Given the description of an element on the screen output the (x, y) to click on. 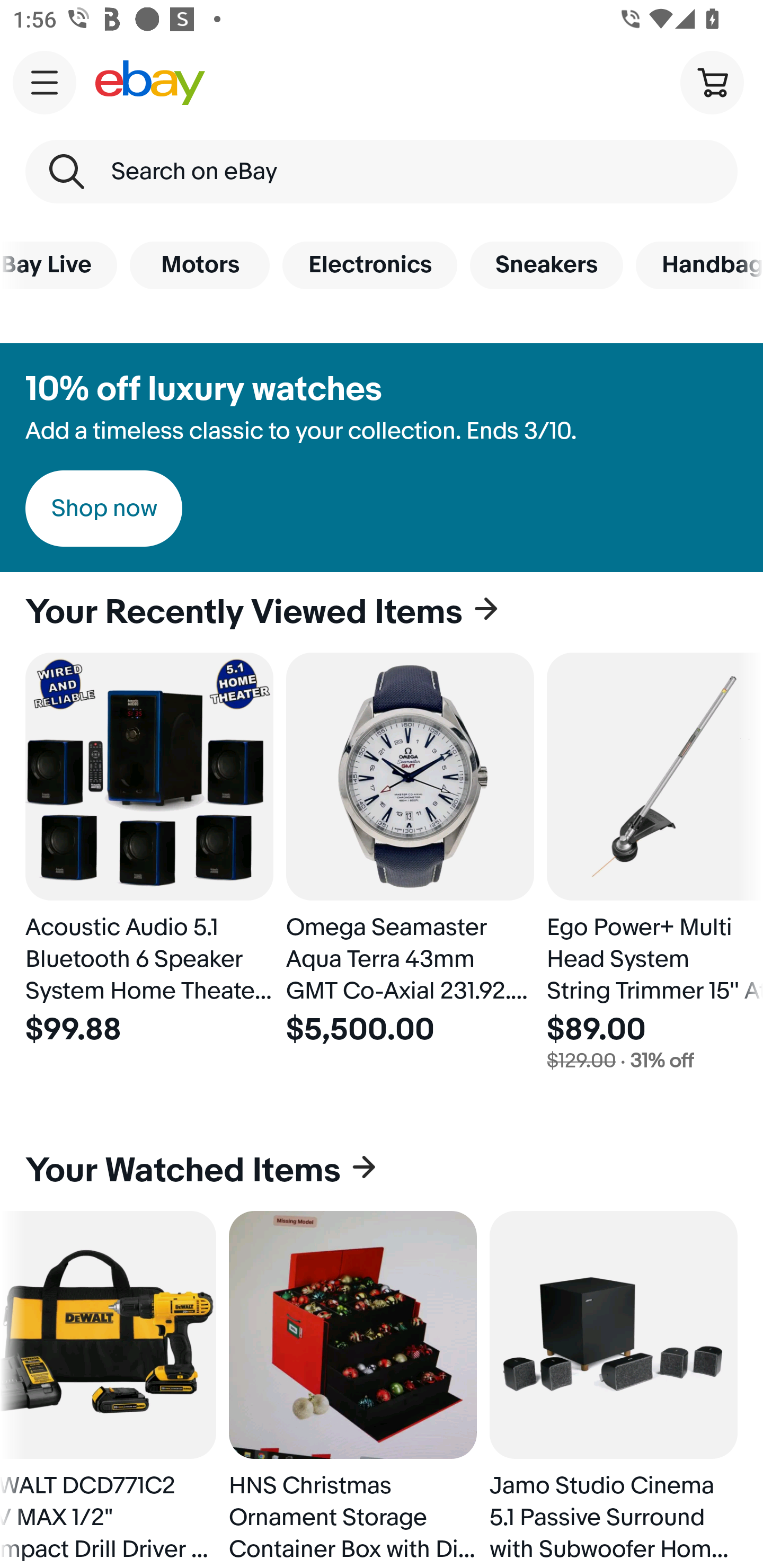
Main navigation, open (44, 82)
Cart button shopping cart (711, 81)
Search on eBay Search Keyword Search on eBay (381, 171)
eBay Live (58, 264)
Motors (199, 264)
Electronics (369, 264)
Sneakers (546, 264)
Handbags (699, 264)
10% off luxury watches (203, 389)
Shop now (103, 508)
Your Recently Viewed Items   (381, 612)
Your Watched Items   (381, 1170)
